Given the description of an element on the screen output the (x, y) to click on. 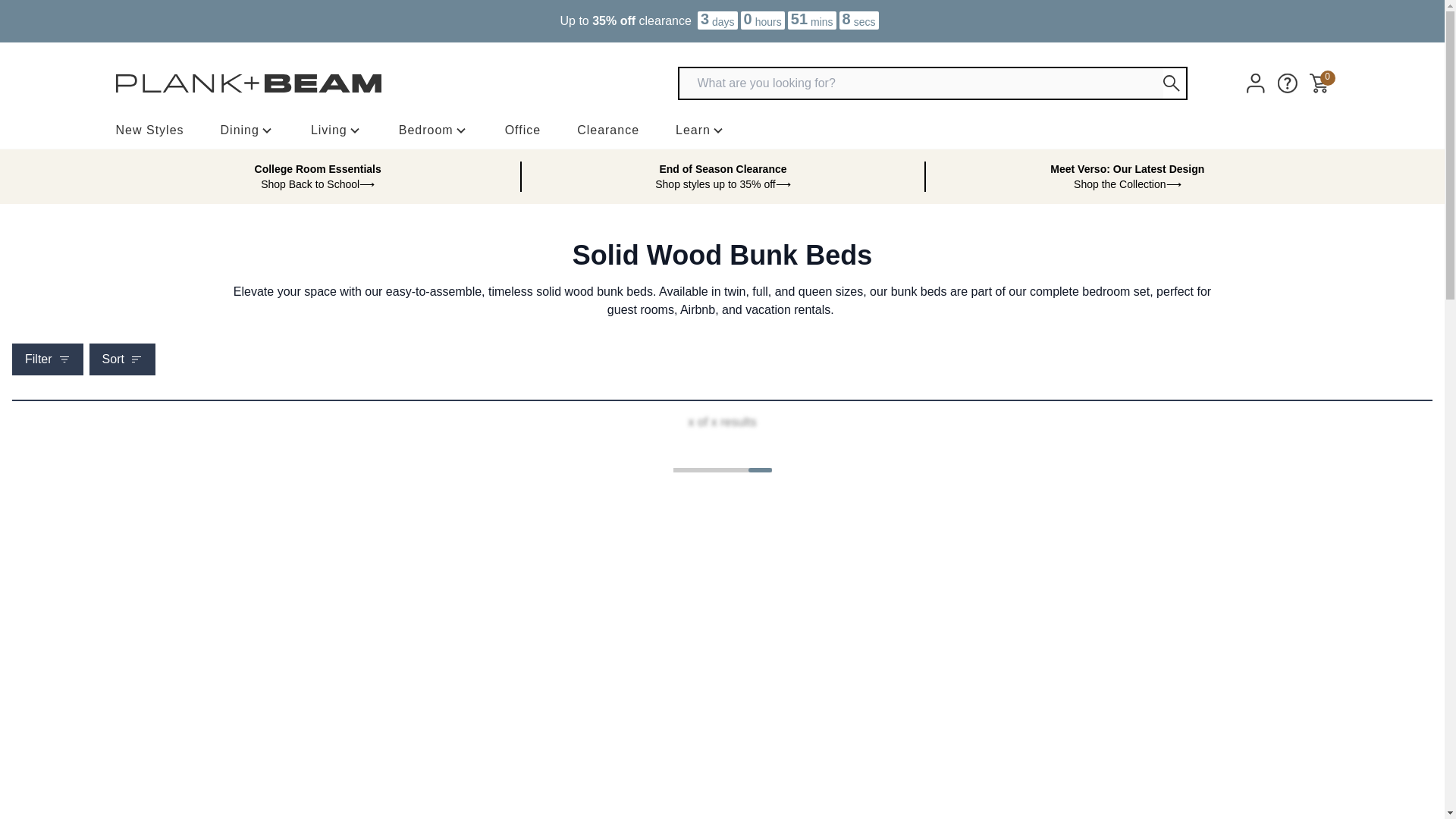
Sort (121, 359)
Bedroom (433, 130)
Filter (46, 359)
Clearance (607, 130)
Office (523, 130)
Living (336, 130)
Learn (700, 130)
Dining (248, 130)
0 (1317, 83)
New Styles (149, 130)
